Given the description of an element on the screen output the (x, y) to click on. 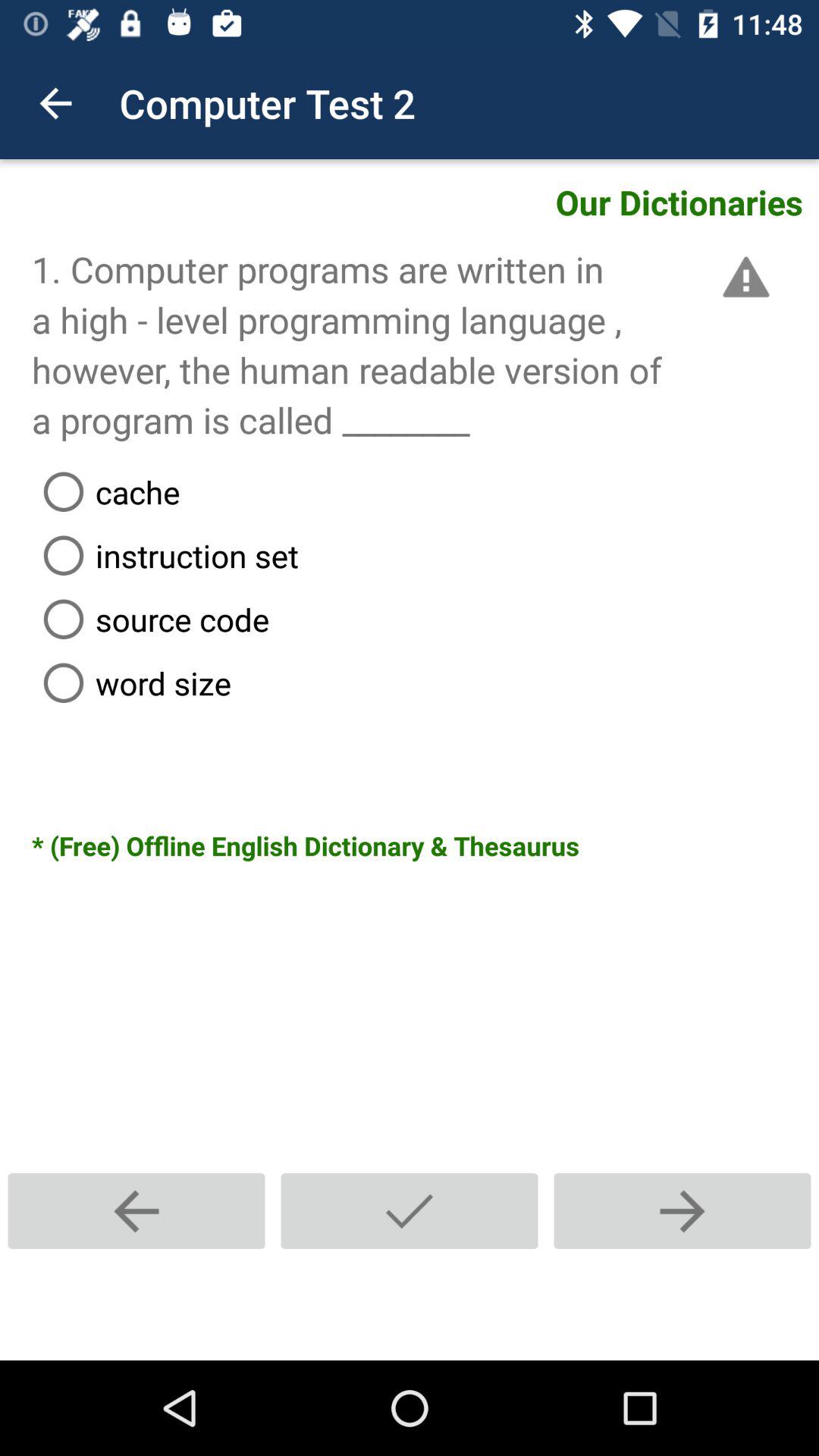
press the item at the bottom right corner (682, 1210)
